Given the description of an element on the screen output the (x, y) to click on. 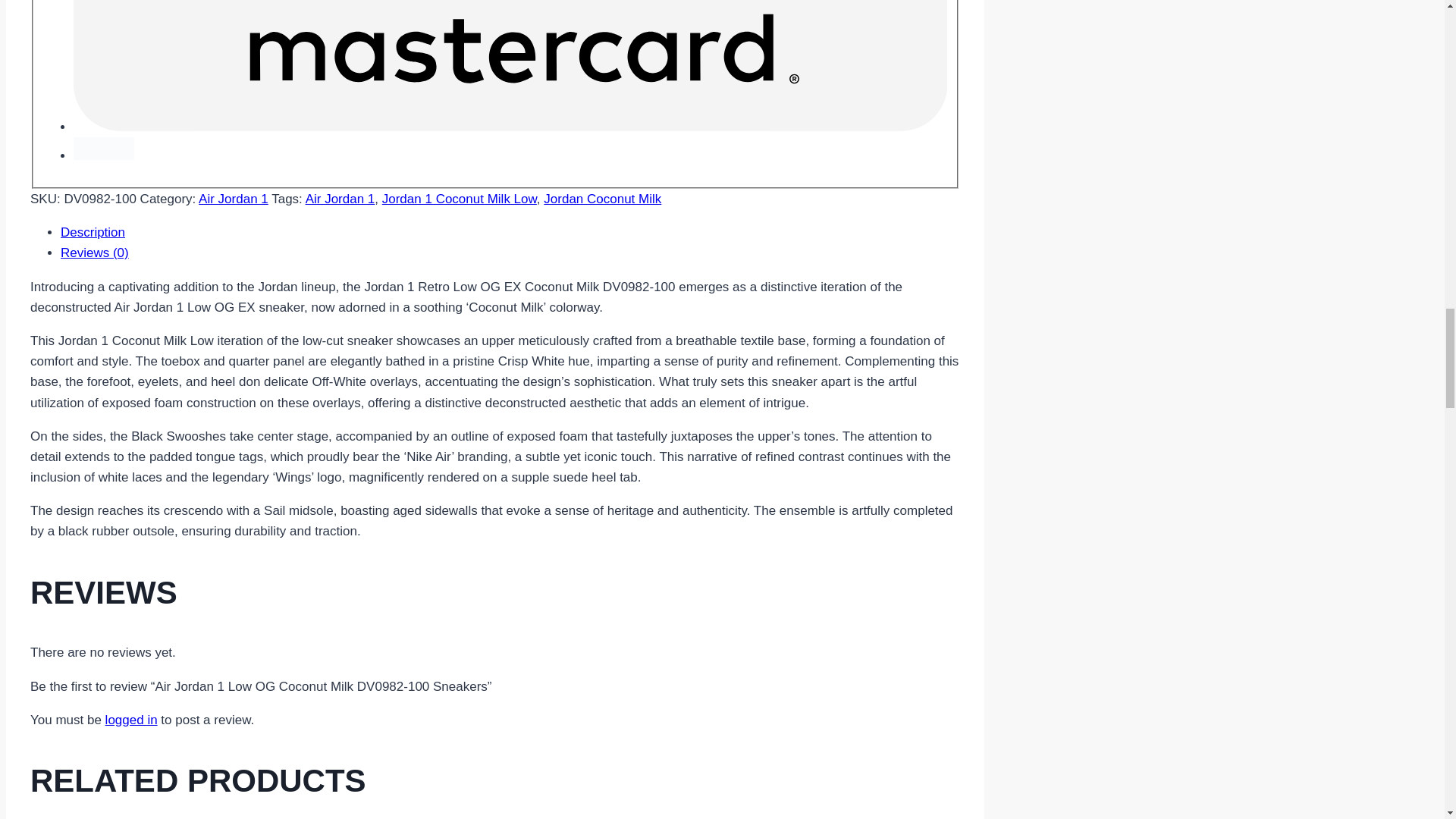
Air Jordan 1 (232, 198)
MasterCard (510, 65)
Air Jordan 1 (340, 198)
